Given the description of an element on the screen output the (x, y) to click on. 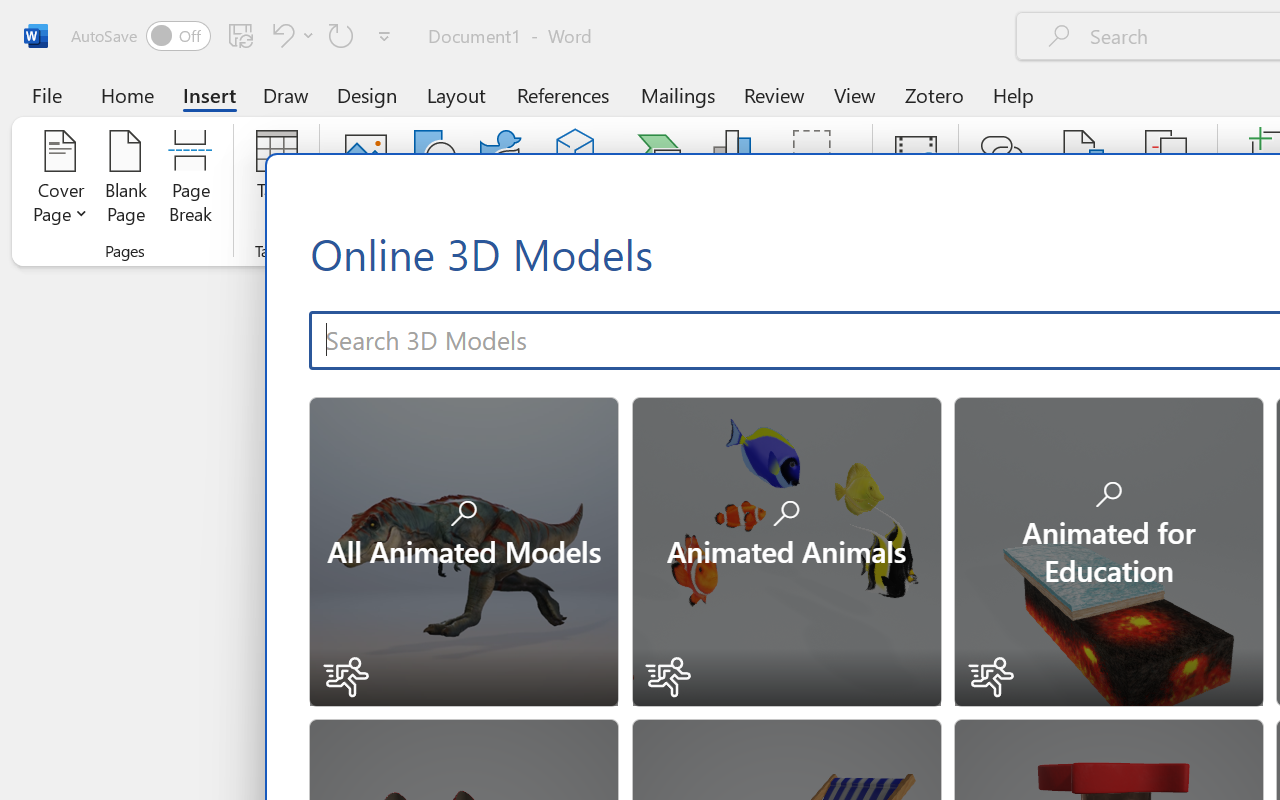
Undo Number Default (290, 35)
Page Break (190, 179)
Cover Page (60, 179)
Blank Page (125, 179)
